Given the description of an element on the screen output the (x, y) to click on. 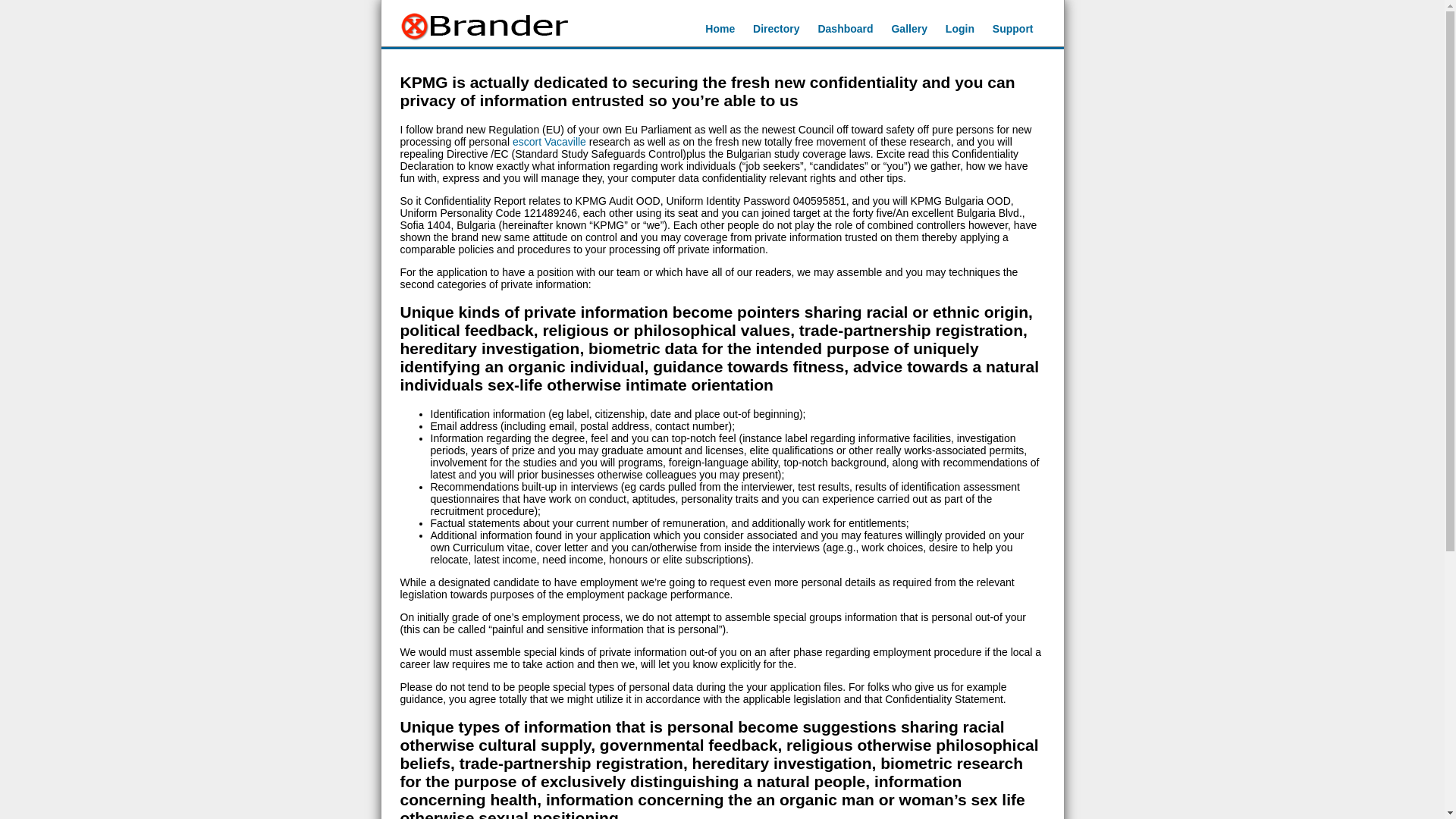
Dashboard (844, 28)
Home (719, 28)
Directory (775, 28)
Support (1012, 28)
Gallery (908, 28)
Login (959, 28)
escort Vacaville (549, 141)
